Given the description of an element on the screen output the (x, y) to click on. 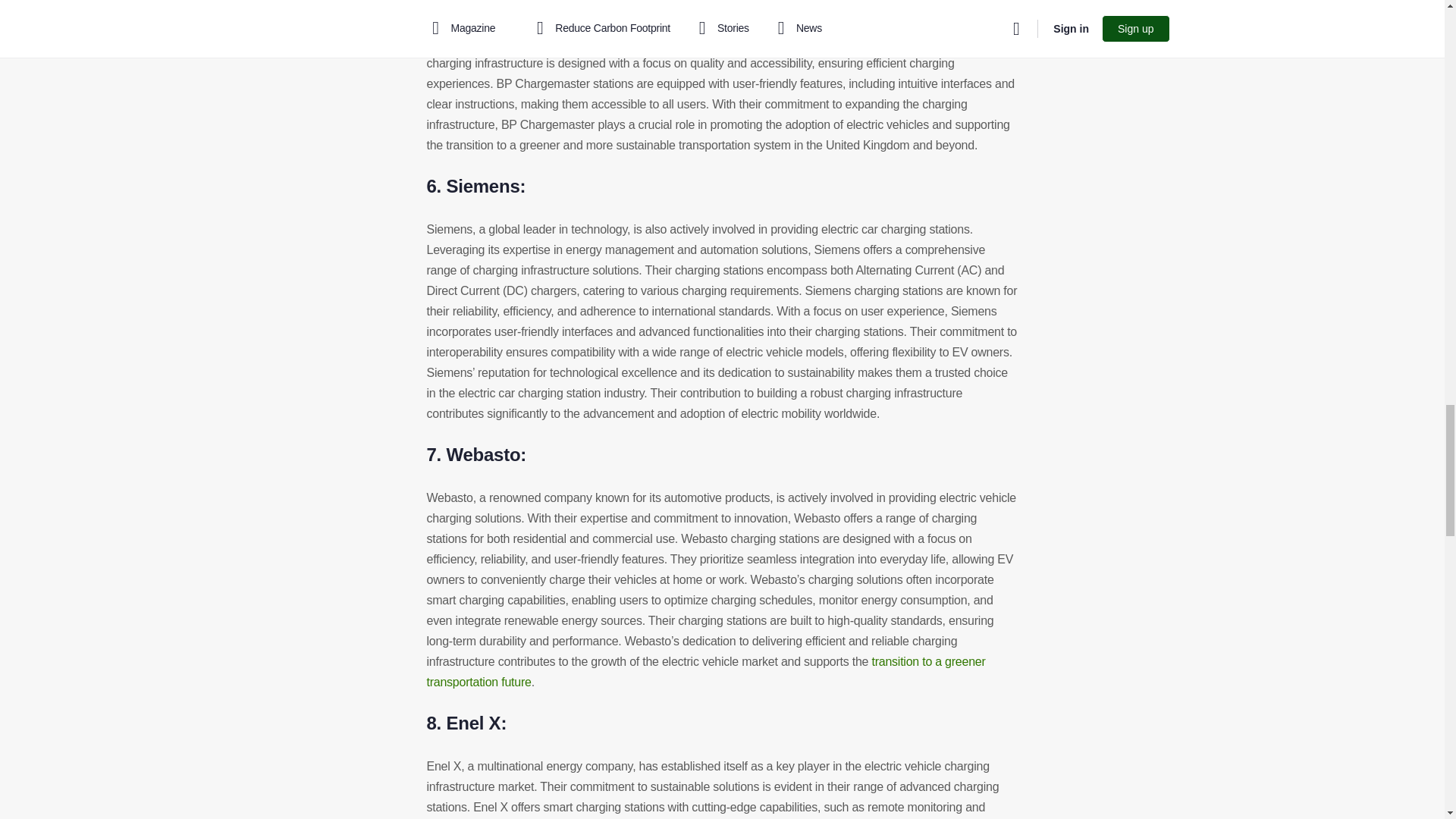
transition to a greener transportation future (705, 671)
